Given the description of an element on the screen output the (x, y) to click on. 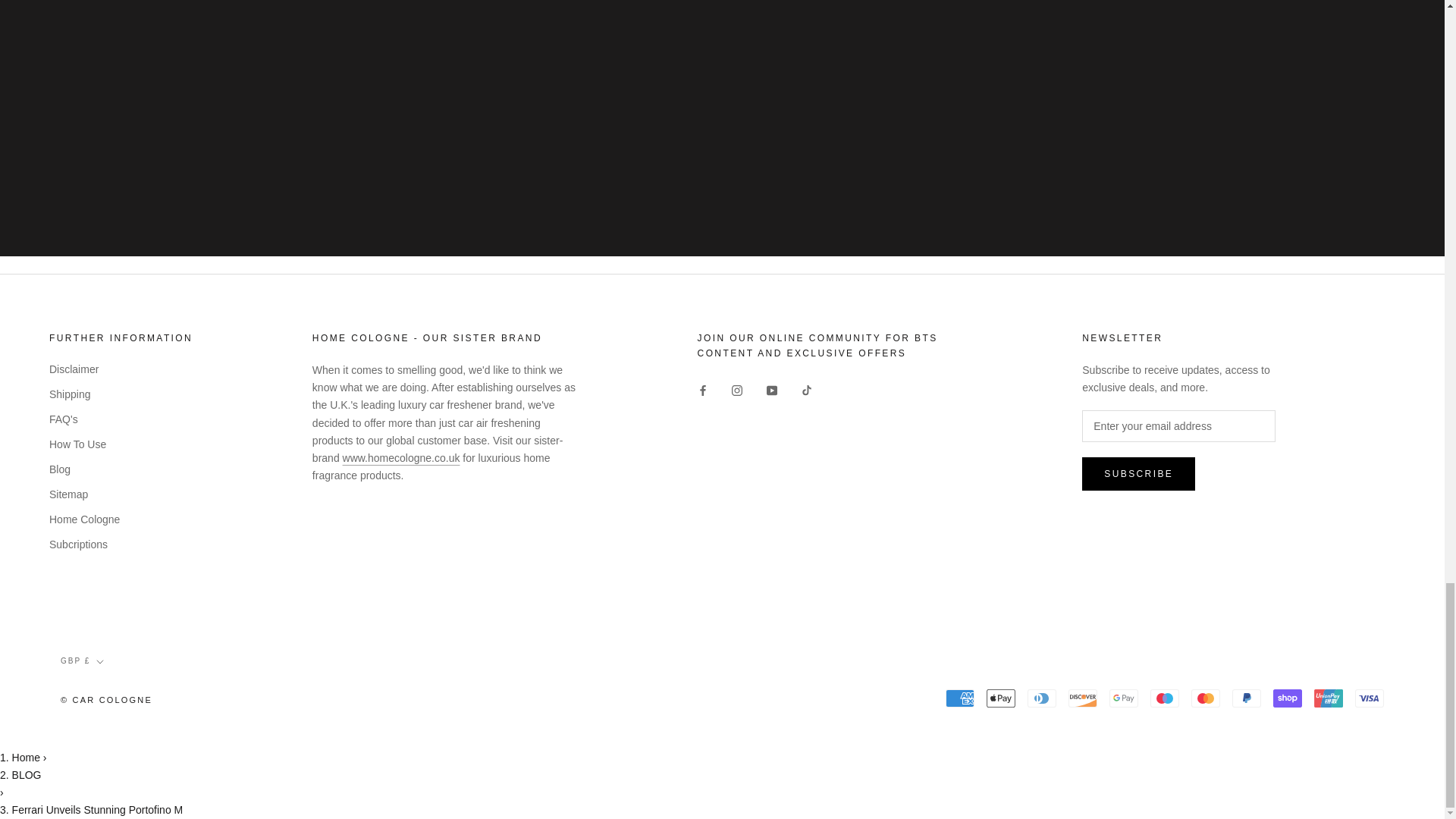
Discover (1082, 698)
Apple Pay (1000, 698)
Maestro (1164, 698)
Google Pay (1123, 698)
Mastercard (1205, 698)
Diners Club (1042, 698)
American Express (959, 698)
